Given the description of an element on the screen output the (x, y) to click on. 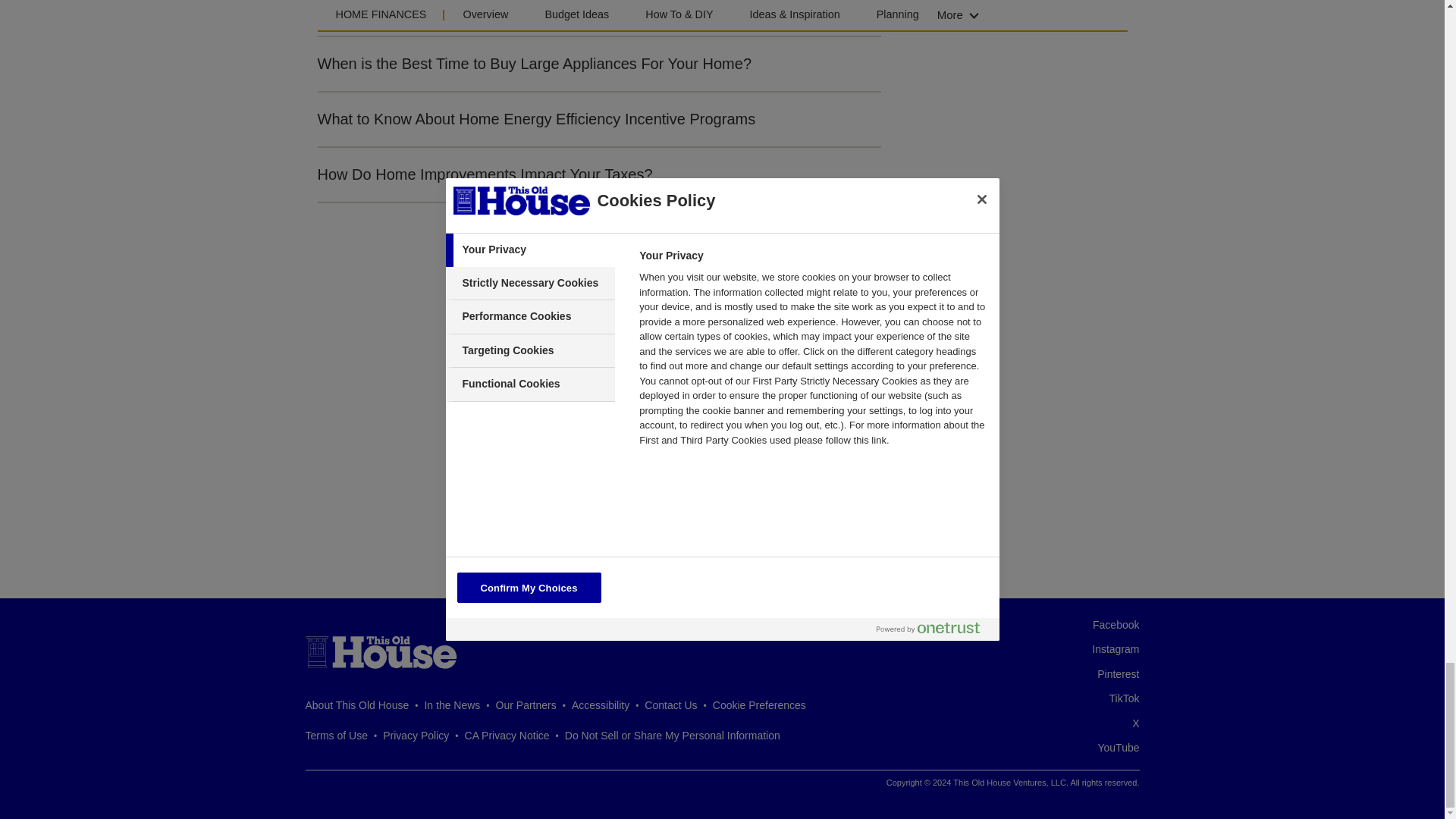
This Old House Logo (380, 652)
